Given the description of an element on the screen output the (x, y) to click on. 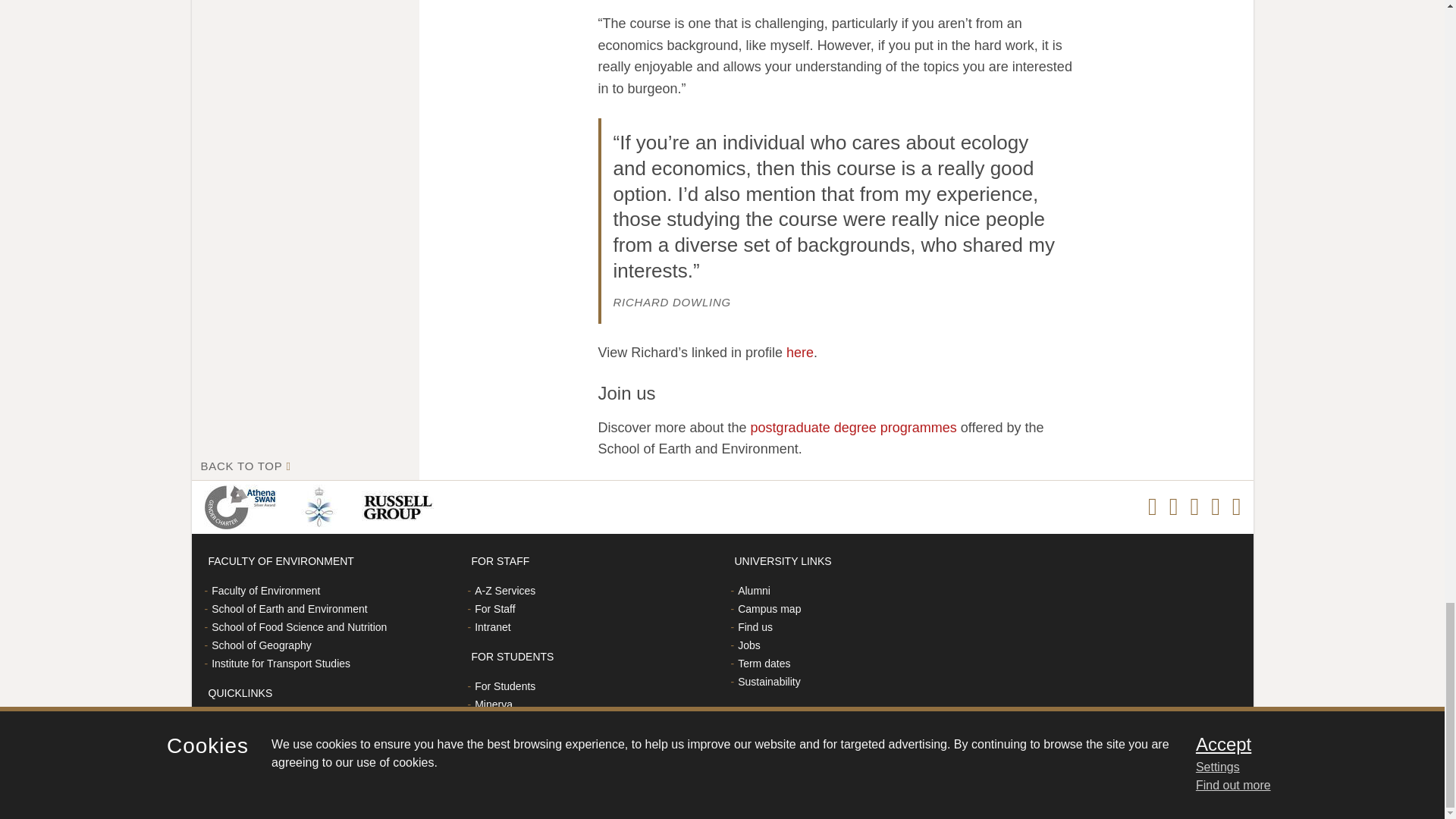
Visit Queen's anniversary prize (321, 506)
Visit Athena SWAN Silver award (242, 506)
Visit Russell Group (400, 506)
